Given the description of an element on the screen output the (x, y) to click on. 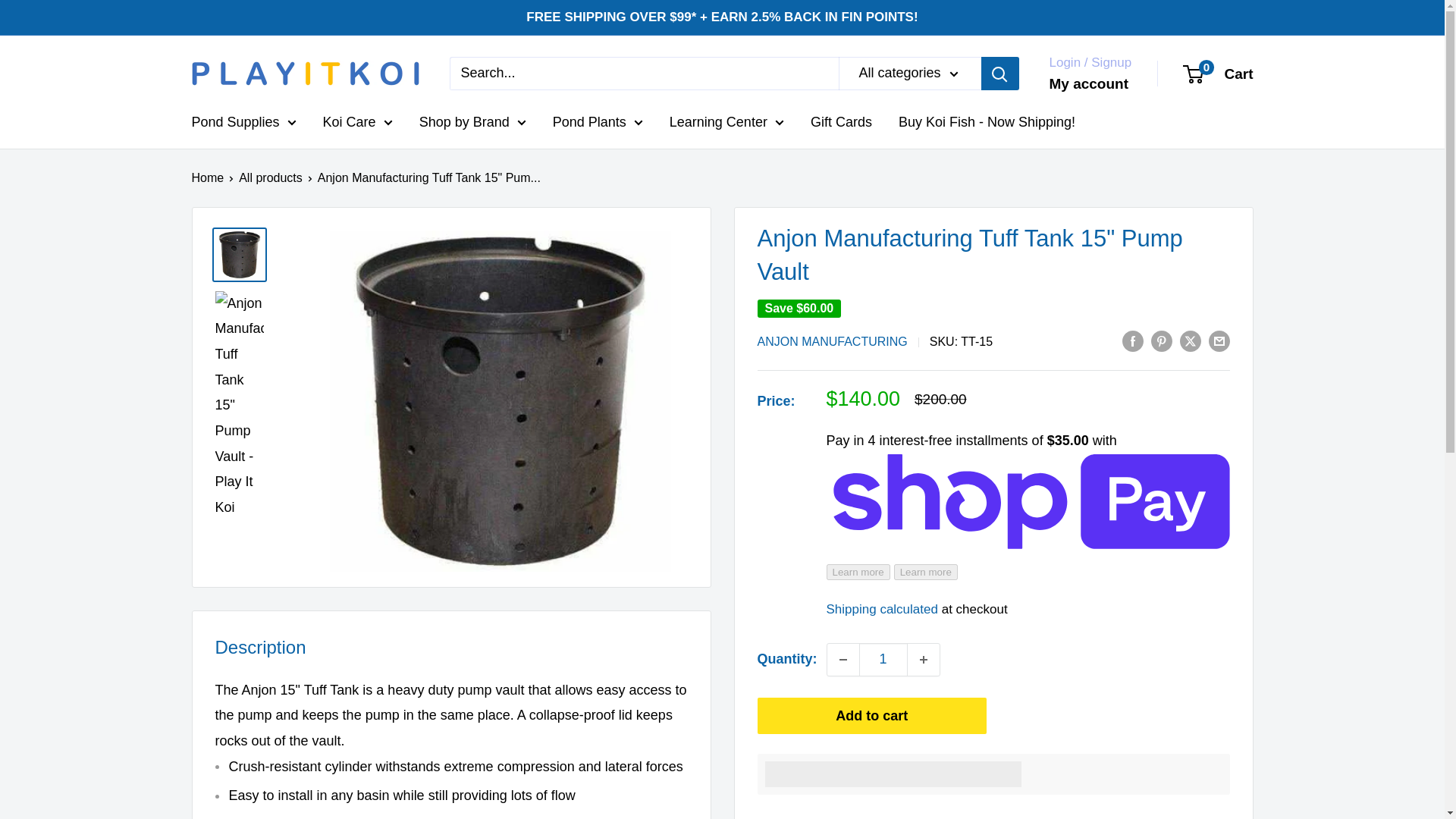
1 (883, 659)
Decrease quantity by 1 (843, 659)
Increase quantity by 1 (923, 659)
